Given the description of an element on the screen output the (x, y) to click on. 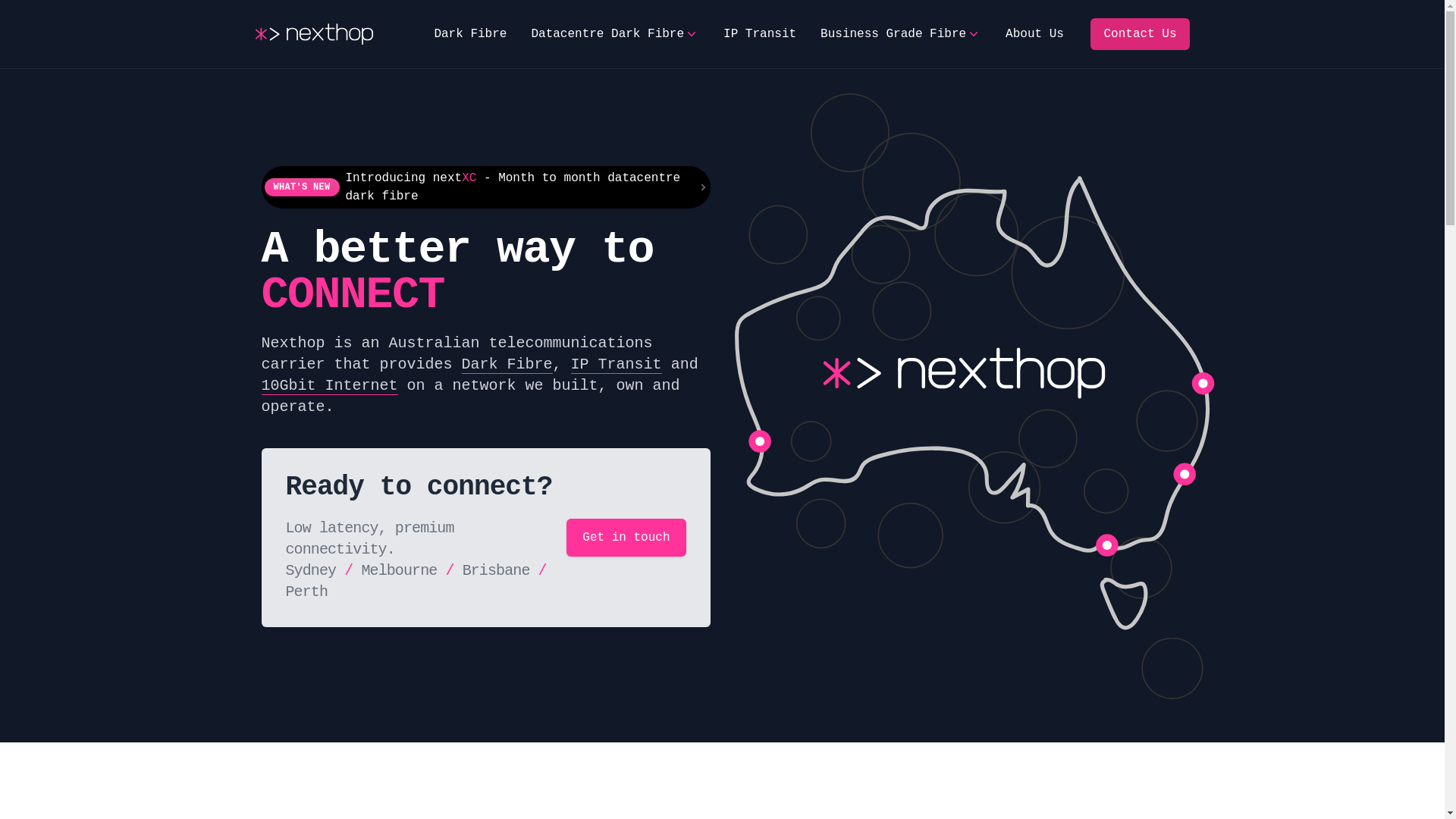
IP Transit Element type: text (759, 34)
10Gbit Internet Element type: text (328, 385)
Nexthop Element type: text (313, 33)
Dark Fibre Element type: text (506, 364)
Contact Us Element type: text (1139, 34)
About Us Element type: text (1034, 34)
Dark Fibre Element type: text (469, 34)
Get in touch Element type: text (625, 537)
IP Transit Element type: text (616, 364)
